Given the description of an element on the screen output the (x, y) to click on. 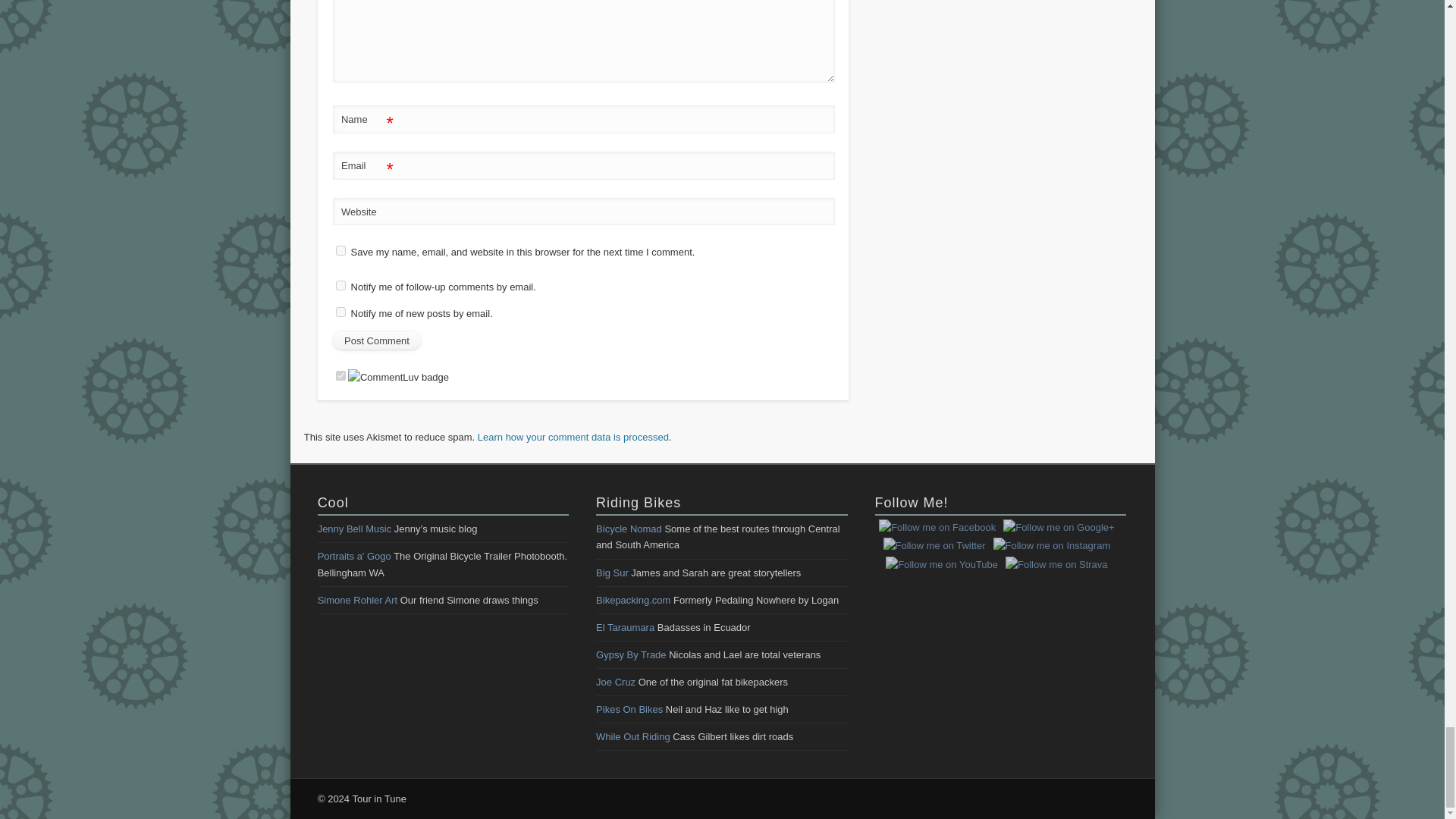
The Original Bicycle Trailer Photobooth. Bellingham WA  (354, 555)
yes (341, 250)
subscribe (341, 311)
Post Comment (376, 341)
James and Sarah are great storytellers (611, 572)
One of the original fat bikepackers (614, 681)
Formerly Pedaling Nowhere by Logan (632, 600)
Some of the best routes through Central and South America (628, 528)
Nicolas and Lael are total veterans (630, 654)
Badasses in Ecuador (624, 627)
Neil and Haz like to get high (628, 708)
Cass Gilbert likes dirt roads  (632, 736)
Our friend Simone draws things (357, 600)
Follow me on Facebook (937, 527)
on (341, 375)
